Given the description of an element on the screen output the (x, y) to click on. 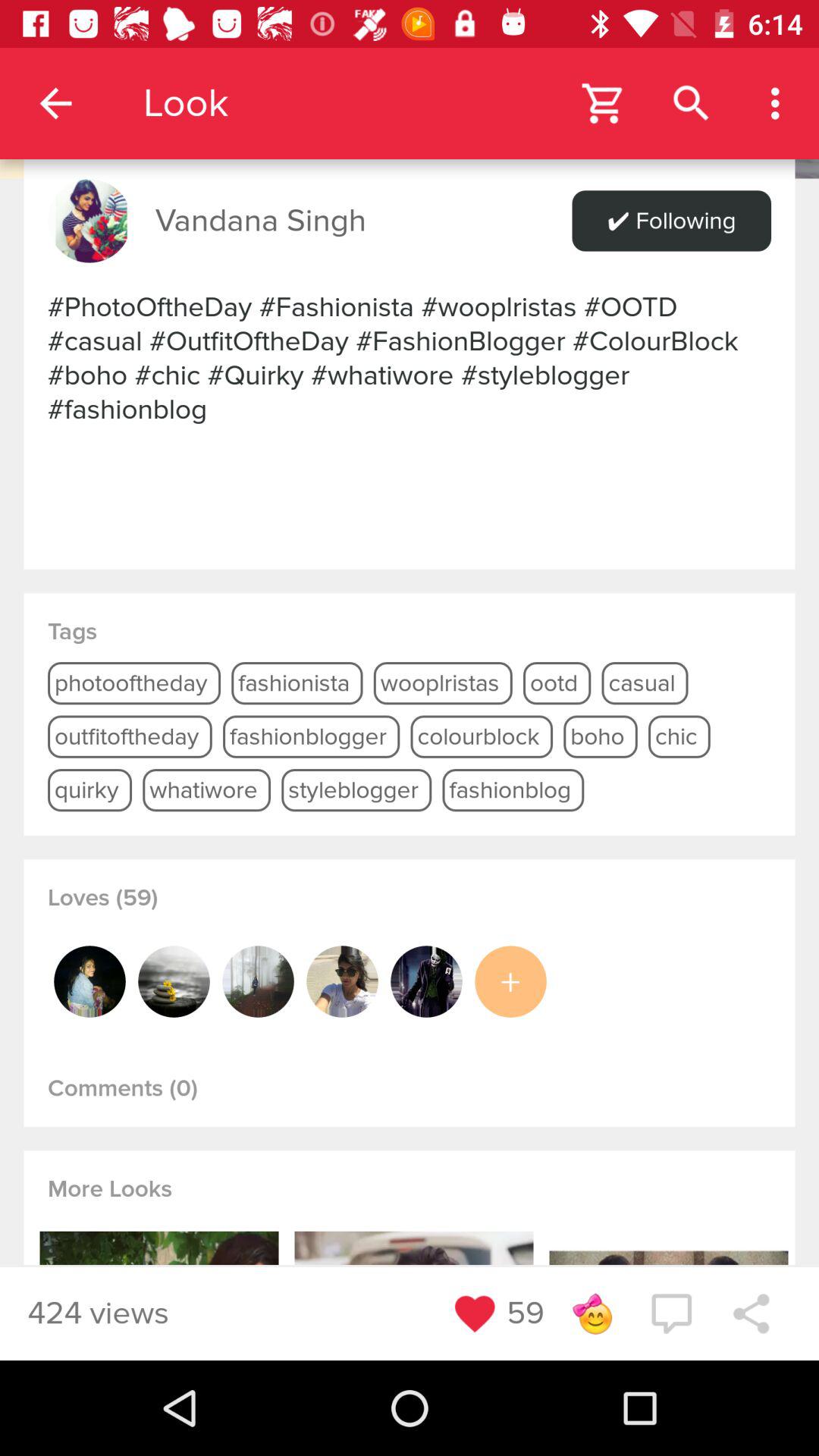
open profile linked to the picture (342, 981)
